Given the description of an element on the screen output the (x, y) to click on. 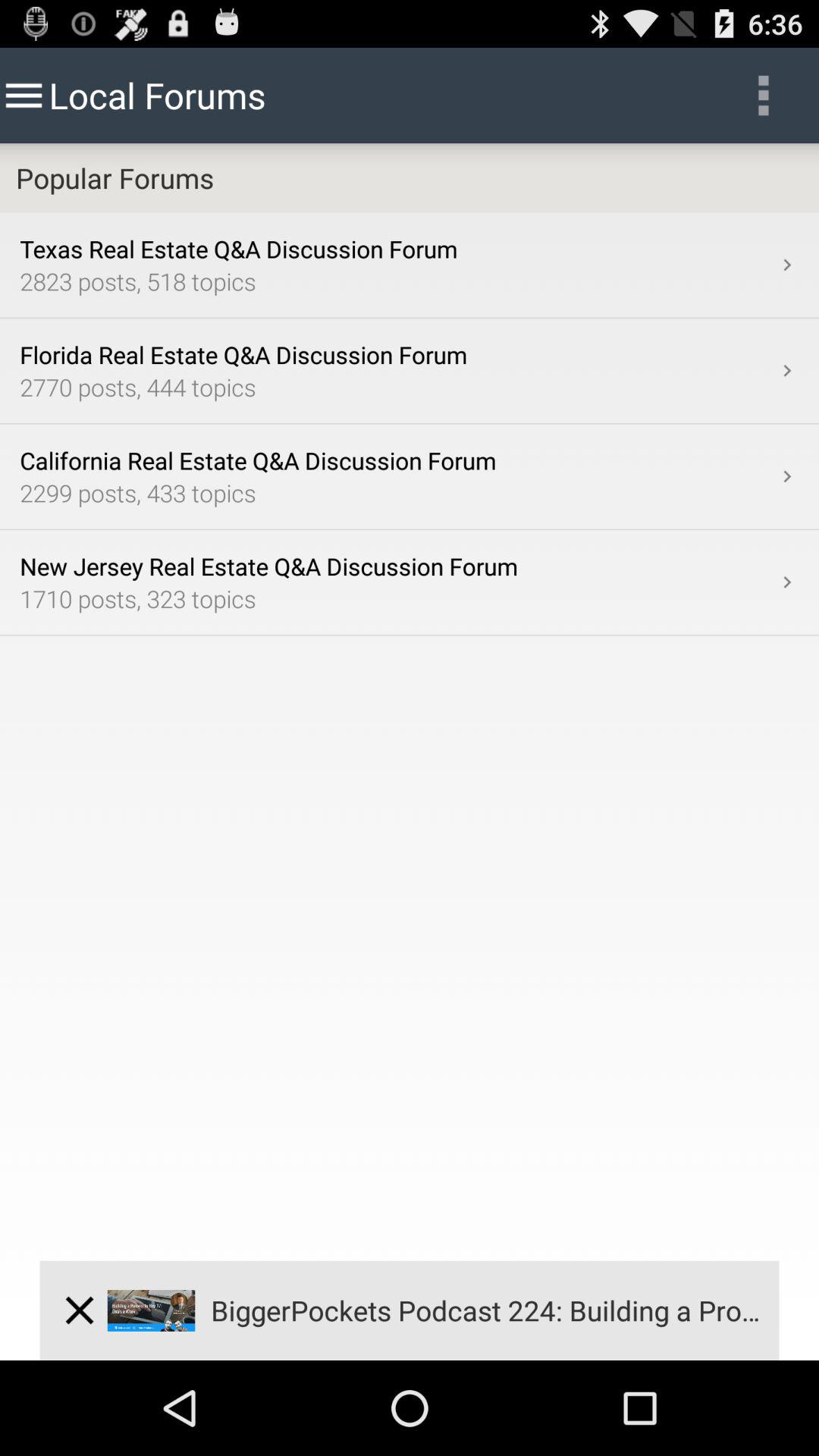
swipe until 2823 posts 518 item (397, 281)
